Given the description of an element on the screen output the (x, y) to click on. 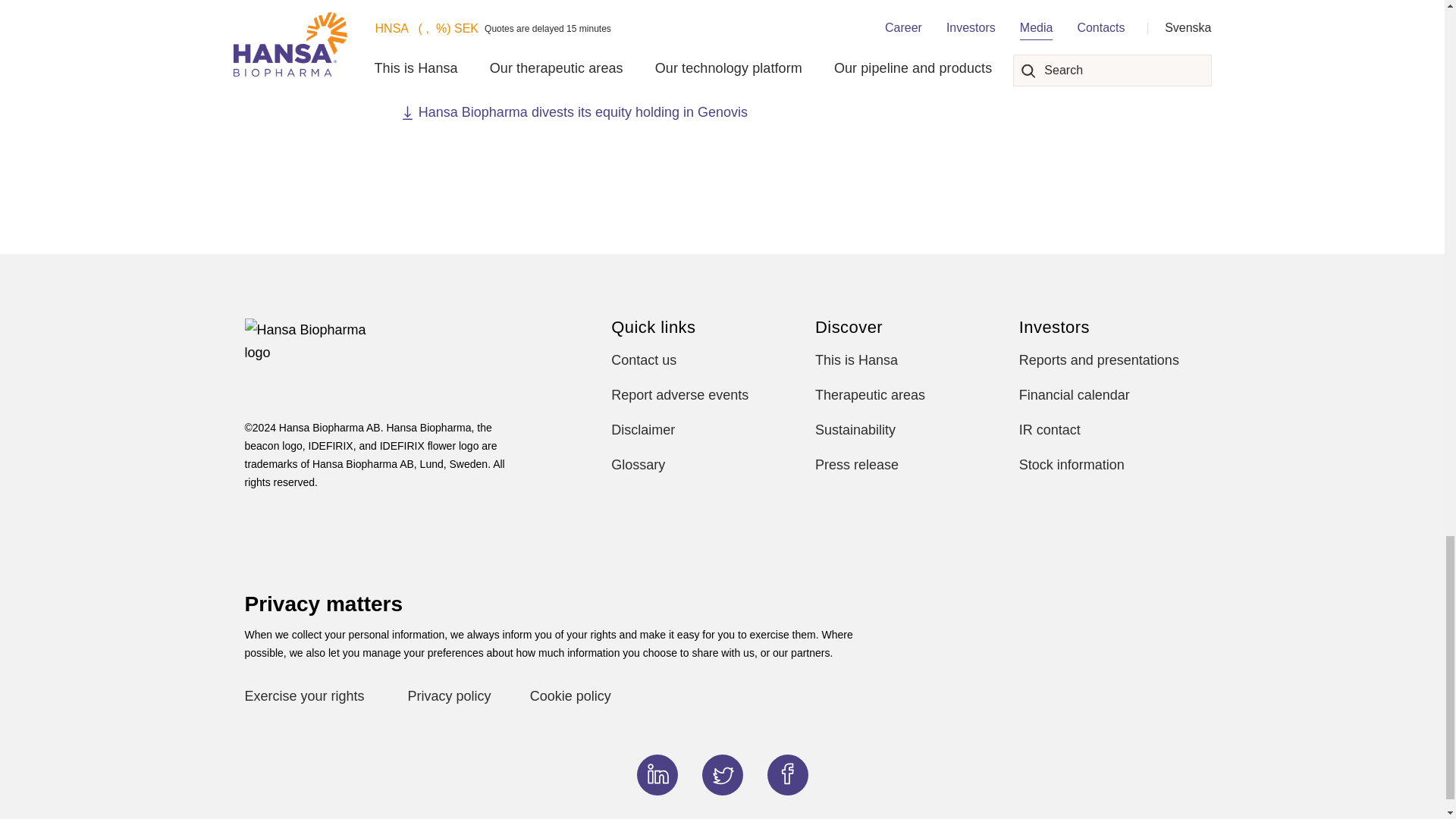
Facebook (787, 773)
Twitter (721, 773)
LinkedIn (657, 773)
